Given the description of an element on the screen output the (x, y) to click on. 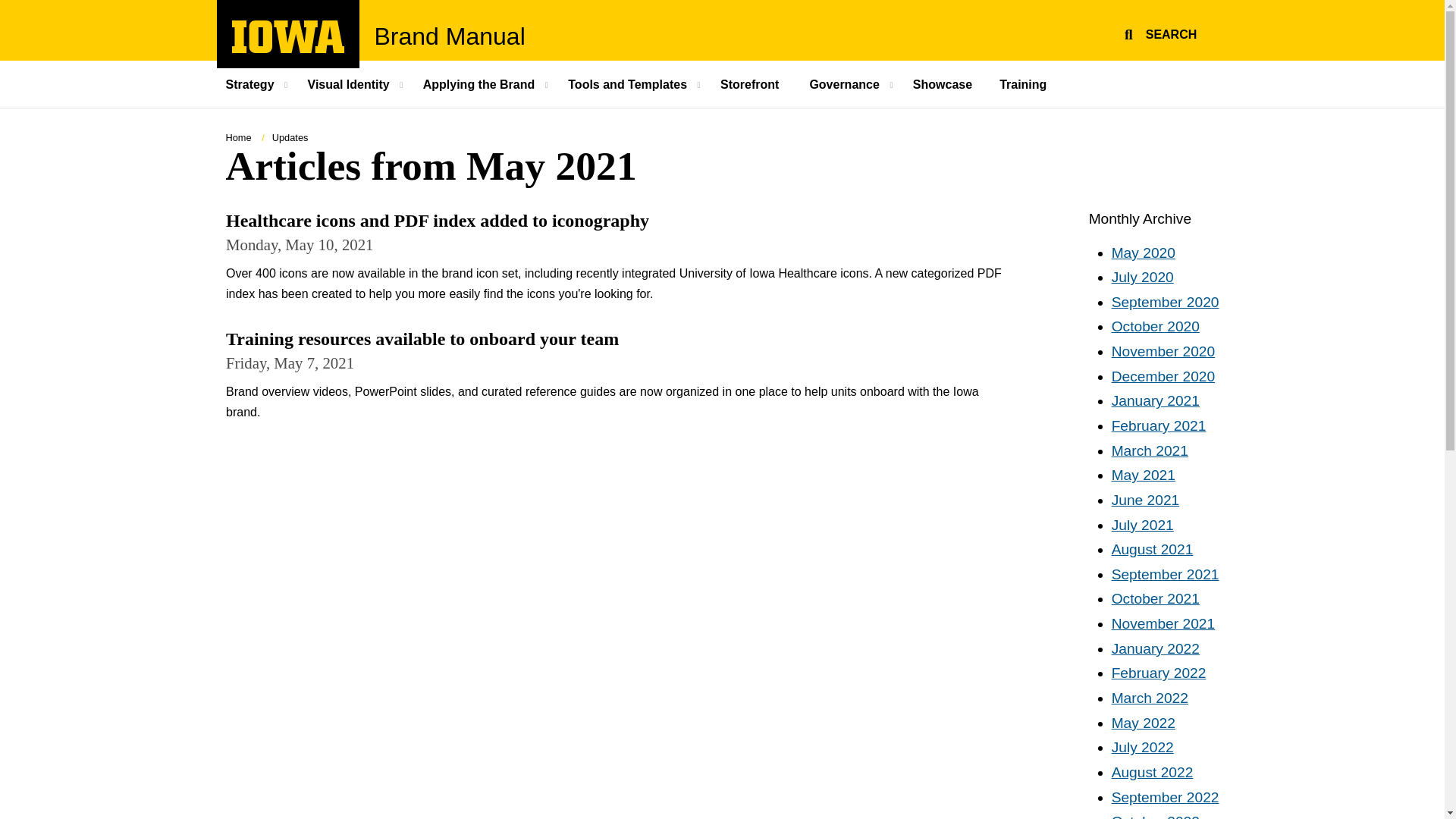
Showcase (942, 83)
SEARCH (1157, 32)
Shop custom branded gear (748, 83)
Skip to main content (7, 7)
Storefront (288, 48)
Brand Manual (748, 83)
University of Iowa (449, 36)
